Given the description of an element on the screen output the (x, y) to click on. 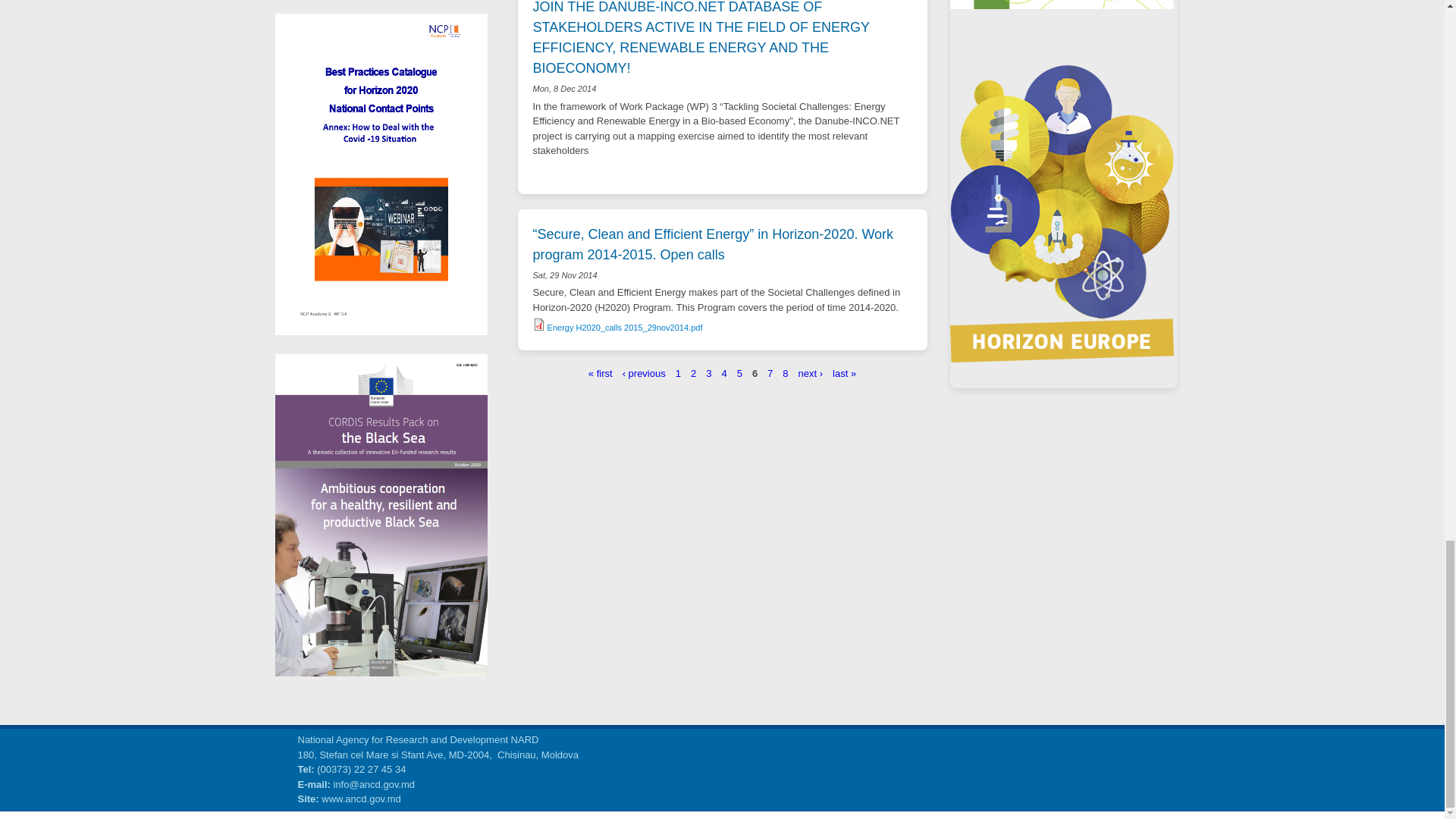
Go to last page (844, 372)
Go to previous page (644, 372)
Go to first page (600, 372)
Go to next page (810, 372)
